Given the description of an element on the screen output the (x, y) to click on. 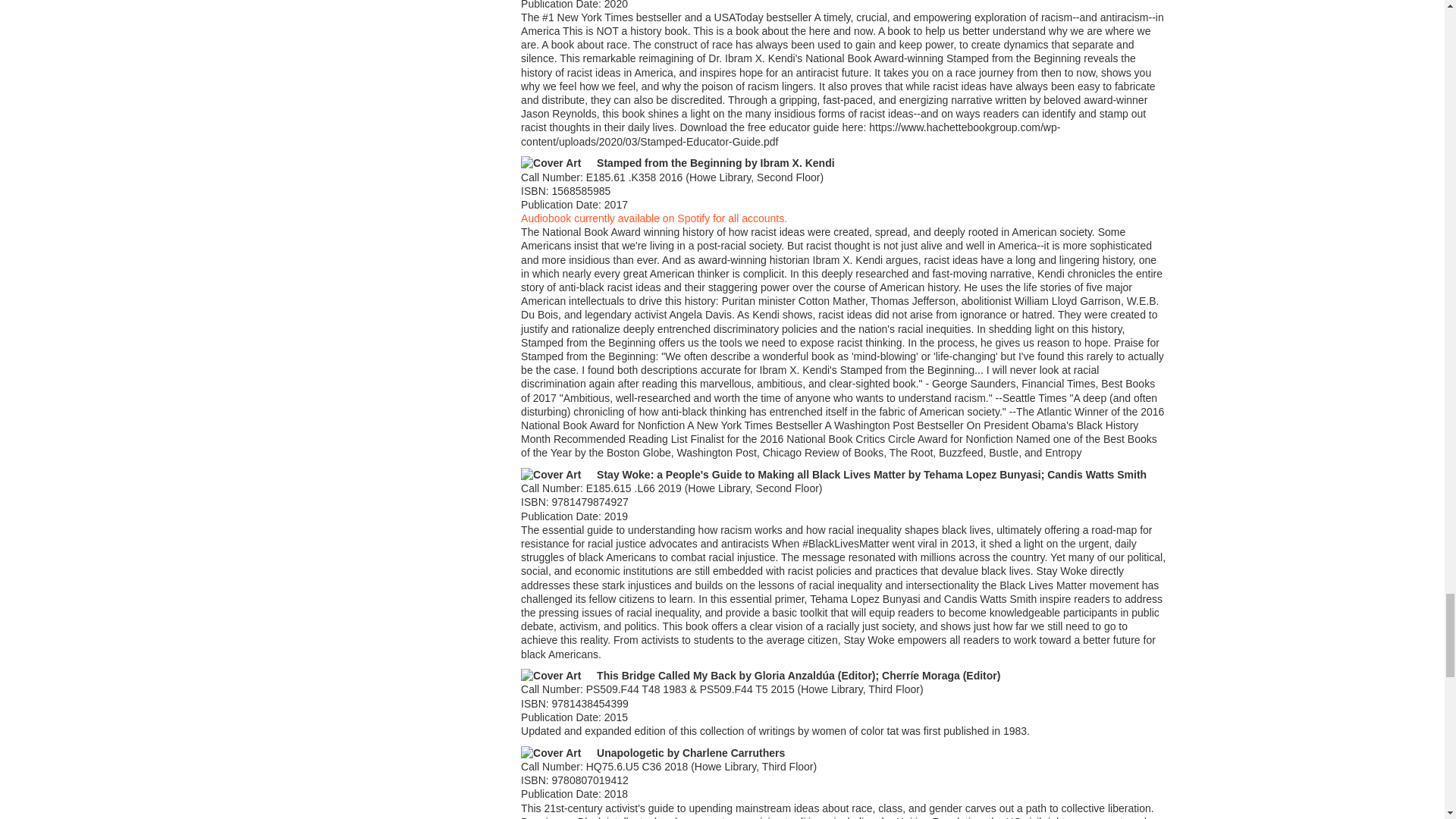
Audiobook currently available on Spotify for all accounts. (654, 218)
